Given the description of an element on the screen output the (x, y) to click on. 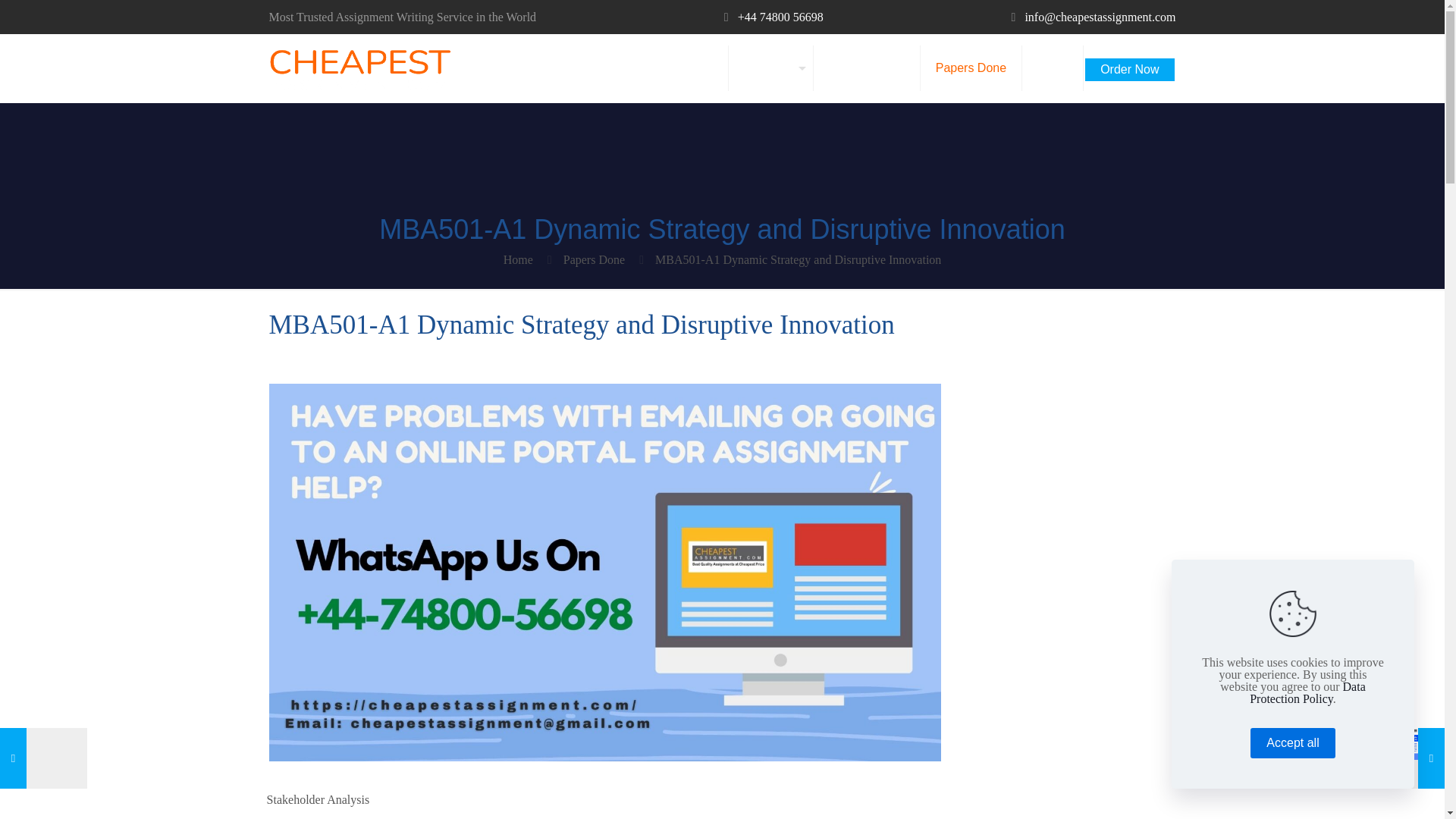
Home (517, 259)
Papers Done (593, 259)
Best Assignment Writers (358, 68)
Blogs (1052, 68)
Free Samples (866, 68)
Home (697, 68)
Papers Done (971, 68)
Services (771, 68)
Order Now (1128, 64)
